Given the description of an element on the screen output the (x, y) to click on. 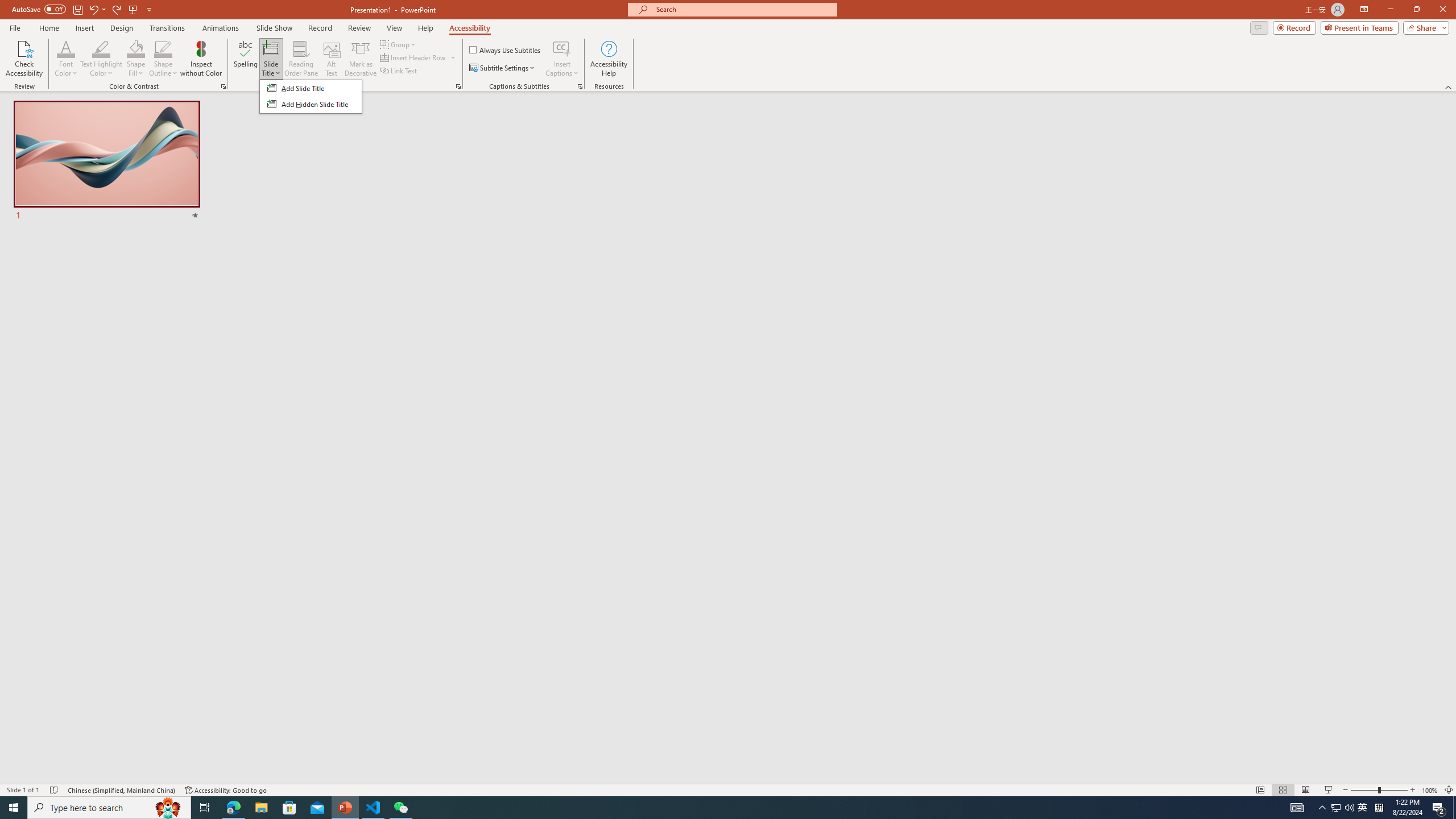
Reading Order Pane (301, 58)
Color & Contrast (223, 85)
Subtitle Settings (502, 67)
